Given the description of an element on the screen output the (x, y) to click on. 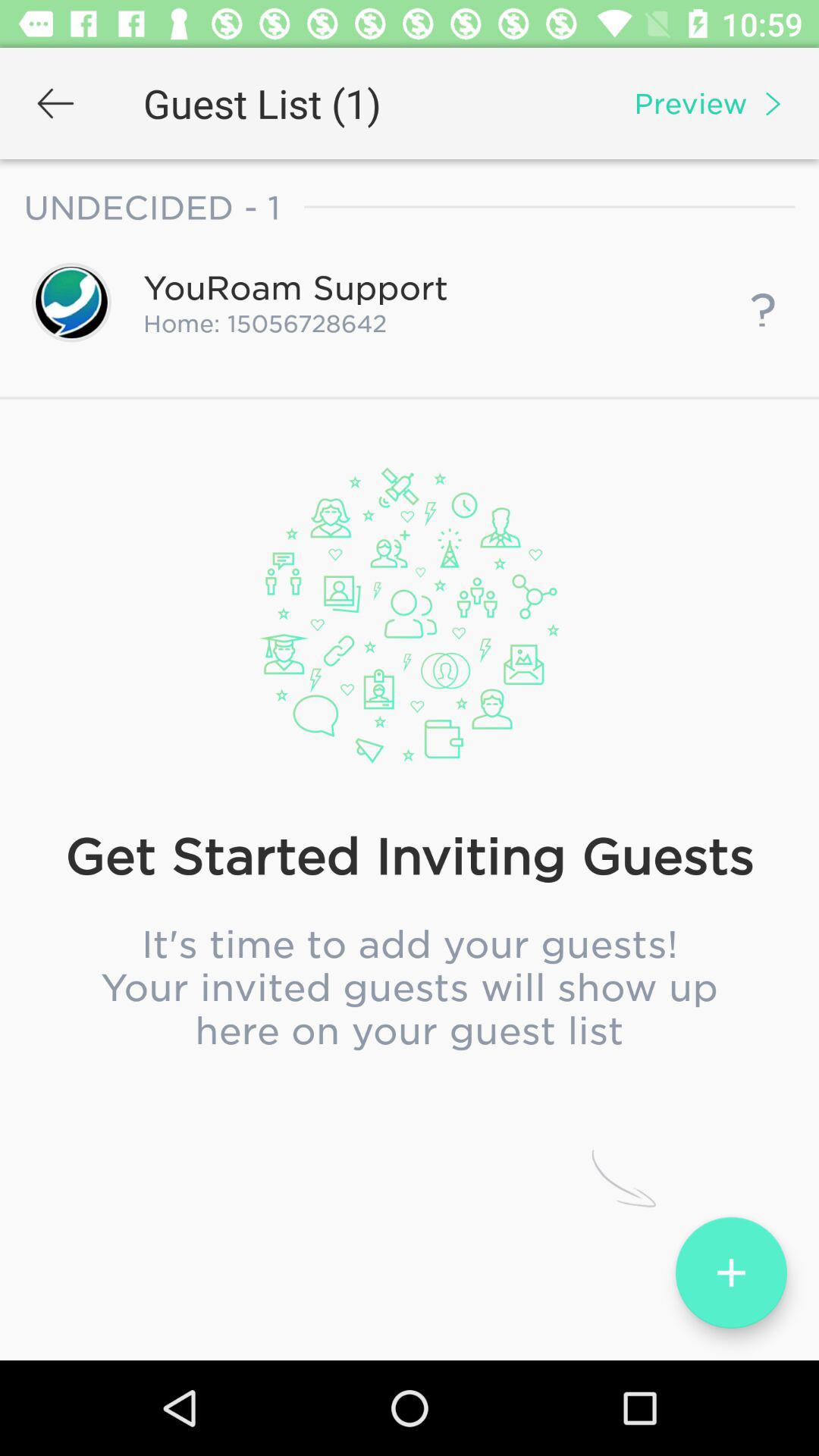
press icon next to home: 15056728642 (763, 302)
